Given the description of an element on the screen output the (x, y) to click on. 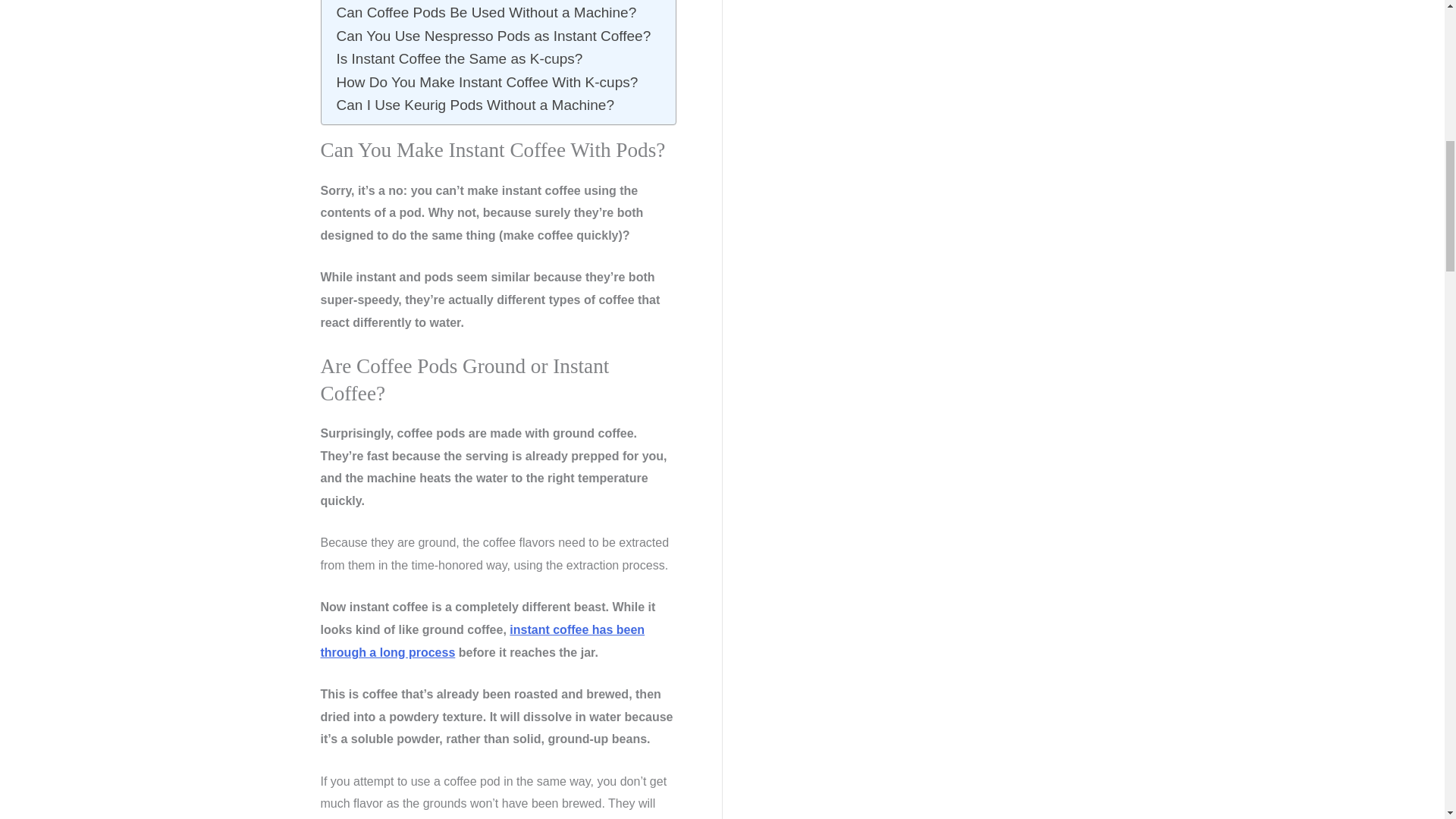
Can I Use Keurig Pods Without a Machine? (475, 105)
Can I Use Keurig Pods Without a Machine? (475, 105)
Can Coffee Pods Be Used Without a Machine? (486, 12)
Can Coffee Pods Be Used Without a Machine? (486, 12)
instant coffee has been through a long process (482, 641)
Is Instant Coffee the Same as K-cups?  (461, 58)
Can You Use Nespresso Pods as Instant Coffee? (493, 36)
How Do You Make Instant Coffee With K-cups? (487, 82)
Can You Use Nespresso Pods as Instant Coffee? (493, 36)
How Do You Make Instant Coffee With K-cups? (487, 82)
